Given the description of an element on the screen output the (x, y) to click on. 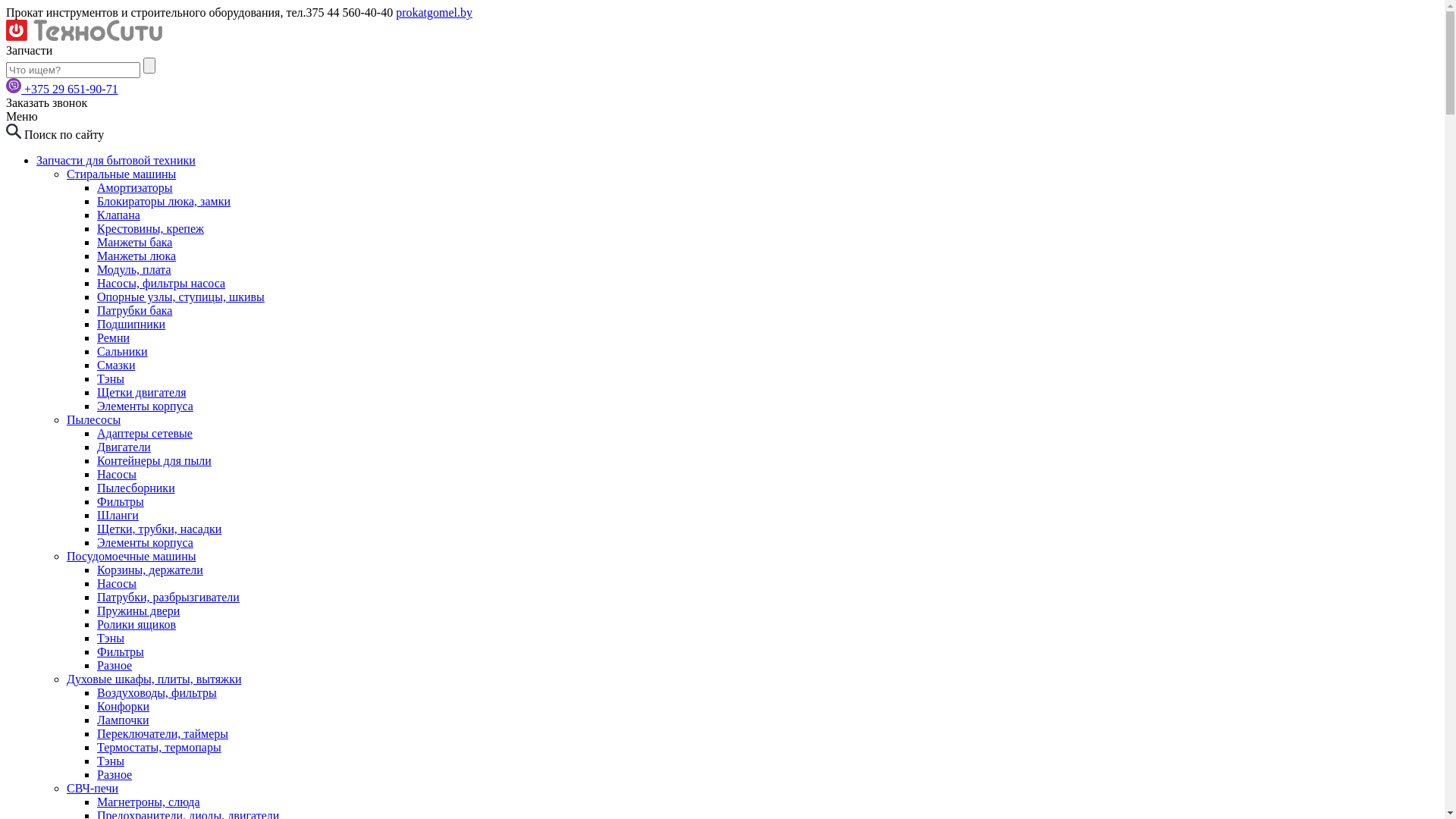
+375 29 651-90-71 Element type: text (71, 88)
prokatgomel.by Element type: text (433, 12)
